Given the description of an element on the screen output the (x, y) to click on. 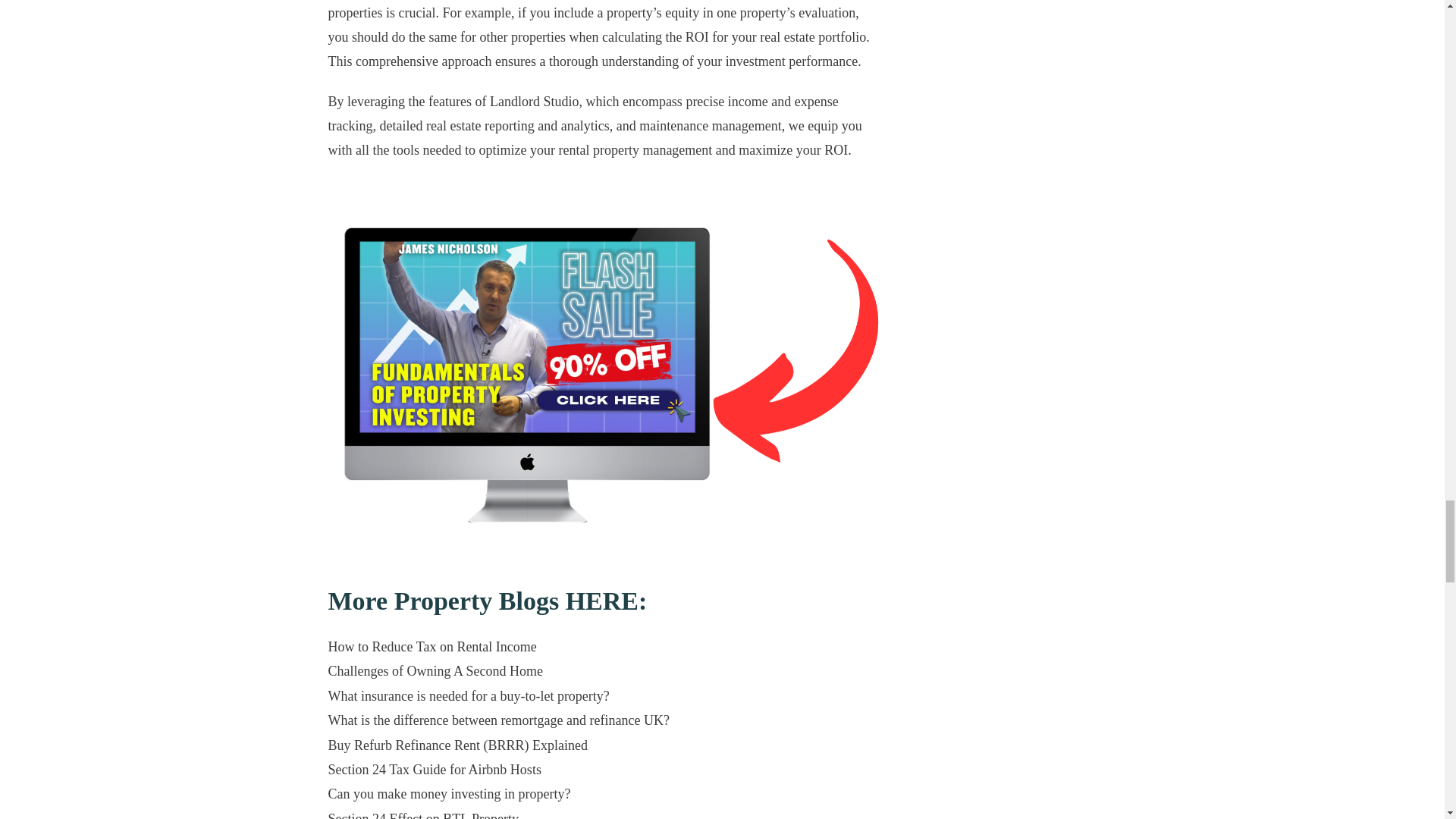
What insurance is needed for a buy-to-let property? (467, 695)
Can you make money investing in property? (448, 793)
Section 24 Tax Guide for Airbnb Hosts (433, 769)
Challenges of Owning A Second Home (434, 670)
What is the difference between remortgage and refinance UK? (497, 720)
How to Reduce Tax on Rental Income (431, 646)
How to Reduce Tax on Rental Income (431, 646)
Can you make money investing in property? (448, 793)
Section 24 Tax Guide for Airbnb Hosts (433, 769)
Challenges of Owning A Second Home (434, 670)
What insurance is needed for a buy-to-let property? (467, 695)
What is the difference between remortgage and refinance UK? (497, 720)
Section 24 Effect on BTL Property (422, 815)
